Given the description of an element on the screen output the (x, y) to click on. 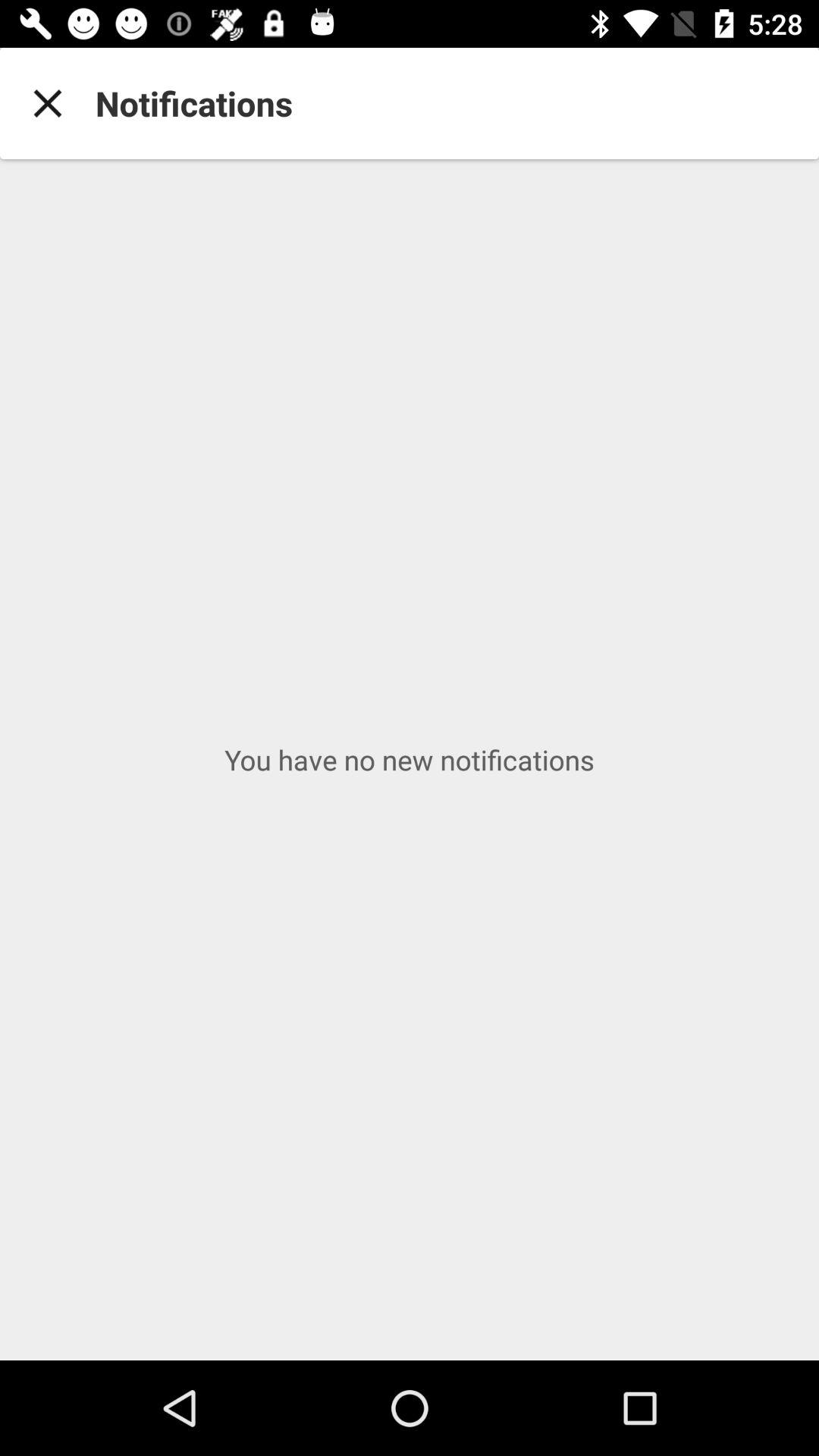
select the icon to the left of notifications item (47, 103)
